Given the description of an element on the screen output the (x, y) to click on. 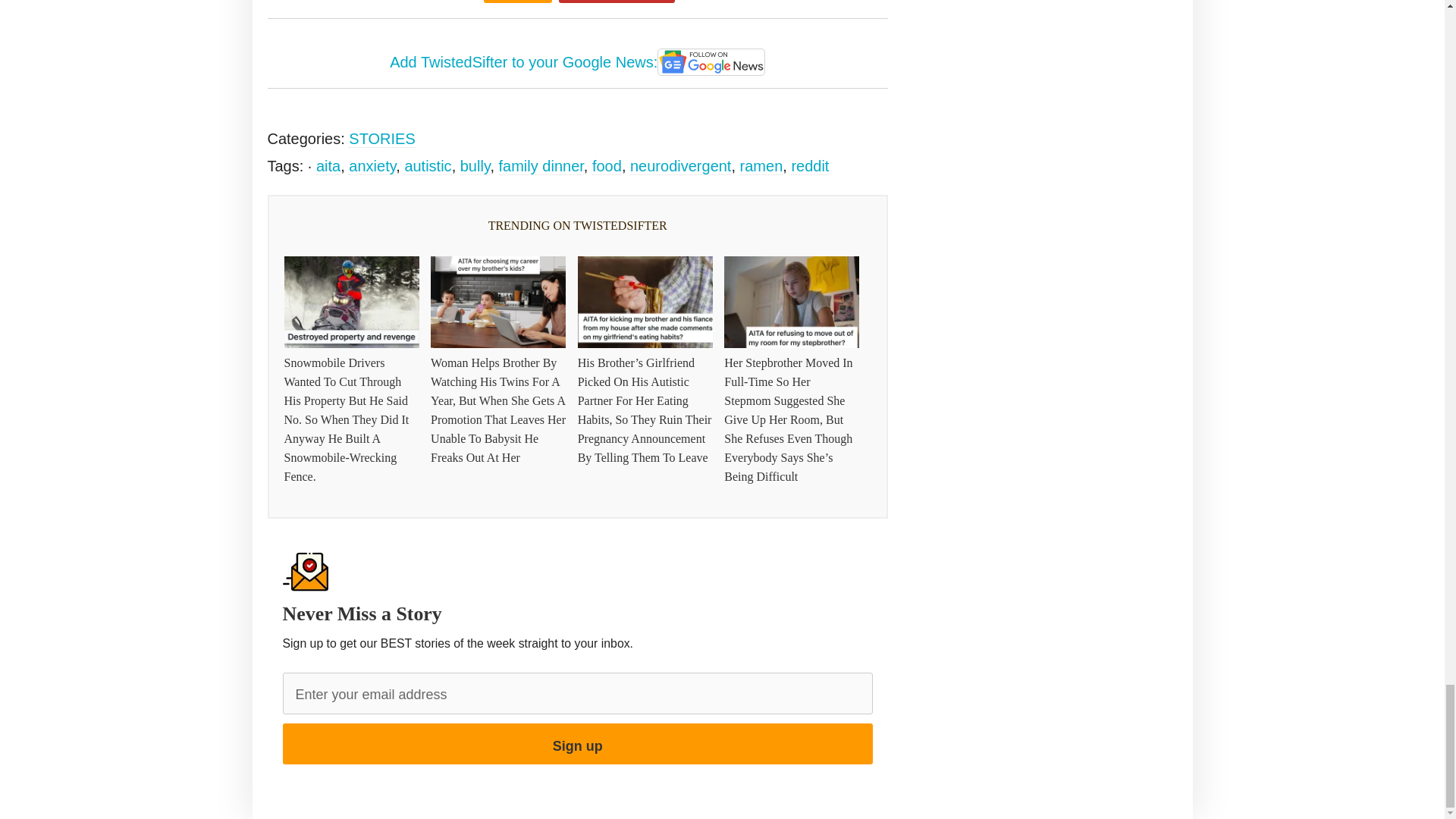
Google News (711, 62)
Email This (517, 1)
autistic (427, 166)
Subscribe For Emails (617, 1)
Sign up (577, 743)
Add TwistedSifter to your Google News: (577, 63)
STORIES (381, 139)
bully (475, 166)
anxiety (372, 166)
family dinner (541, 166)
aita (327, 166)
